Given the description of an element on the screen output the (x, y) to click on. 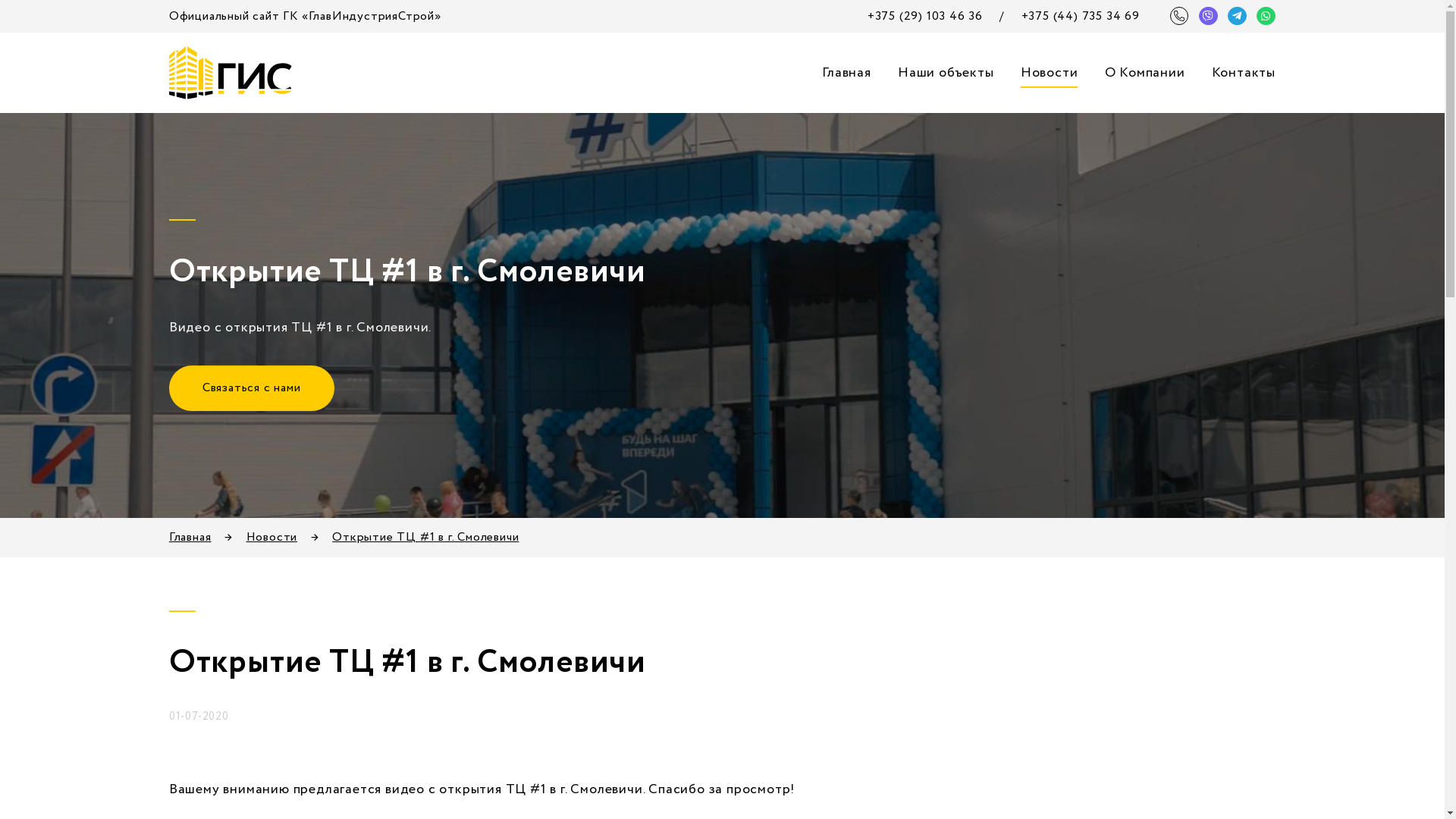
+375 (44) 735 34 69 Element type: text (1080, 16)
+375 (29) 103 46 36 Element type: text (924, 16)
